Given the description of an element on the screen output the (x, y) to click on. 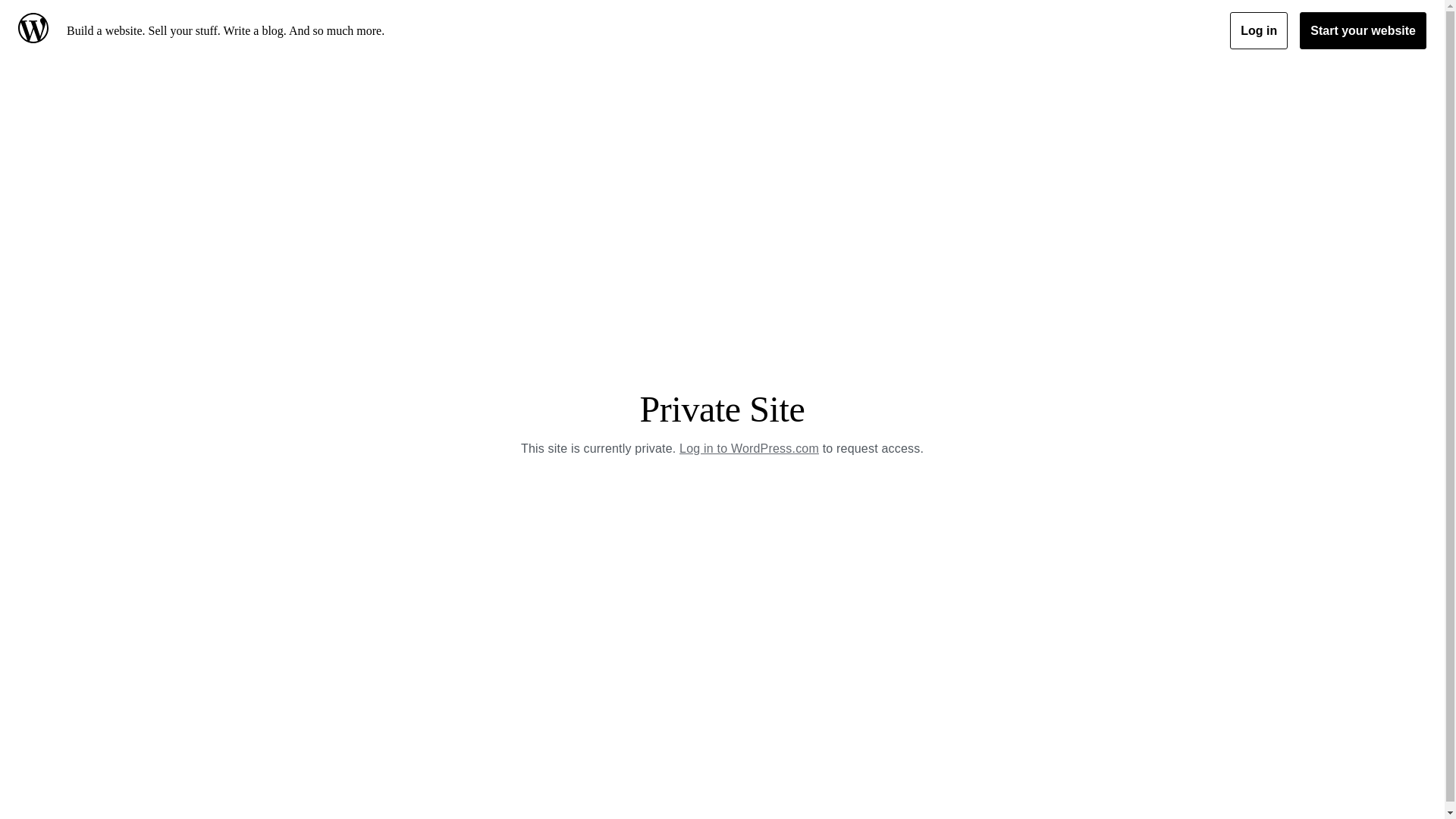
WordPress.com Element type: text (36, 30)
Log in to WordPress.com Element type: text (749, 448)
Log in Element type: text (1258, 30)
Start your website Element type: text (1362, 30)
